Given the description of an element on the screen output the (x, y) to click on. 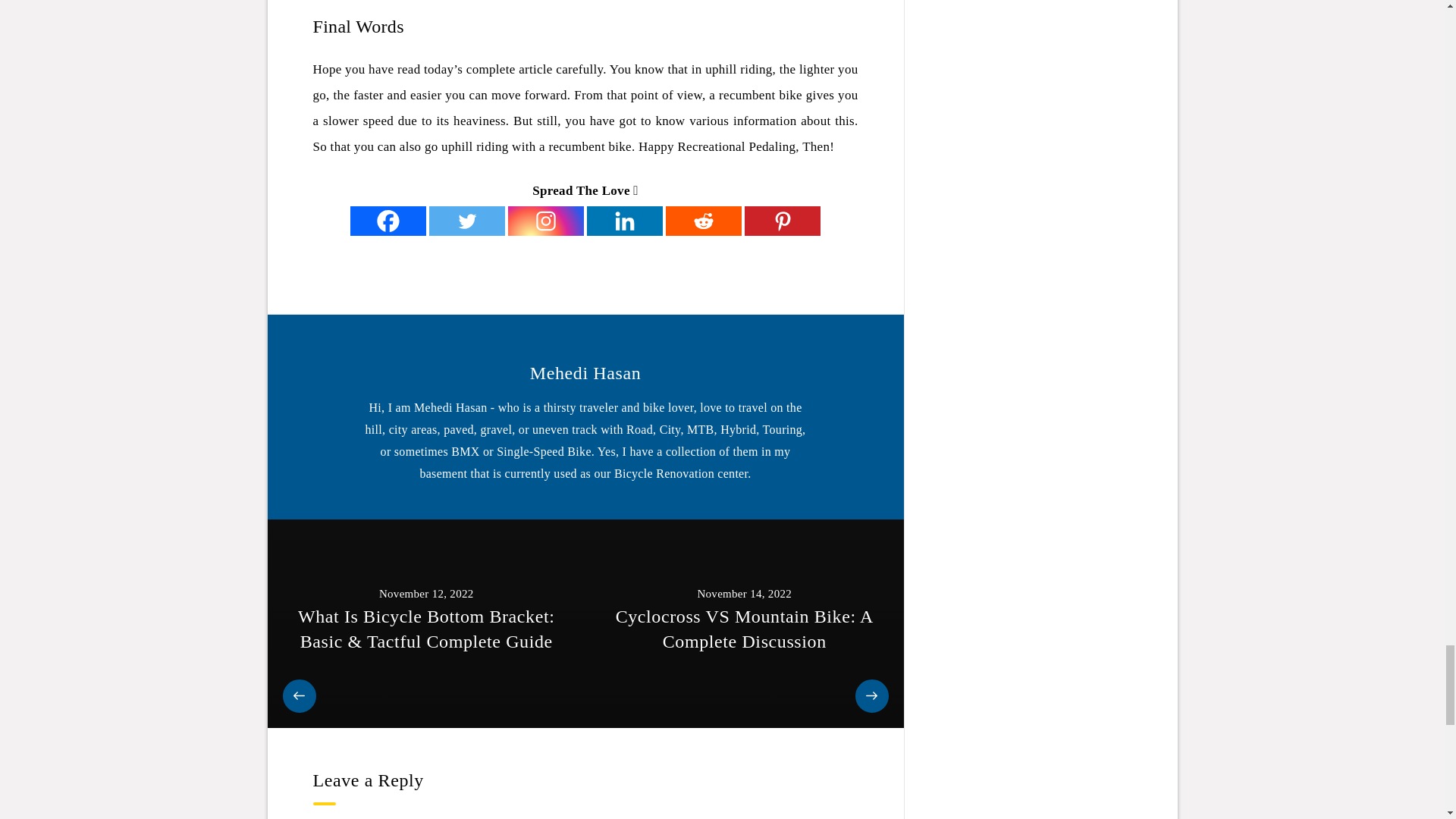
Mehedi Hasan (585, 373)
Twitter (467, 220)
Pinterest (782, 220)
Facebook (388, 220)
Instagram (545, 220)
Reddit (703, 220)
Linkedin (624, 220)
